Given the description of an element on the screen output the (x, y) to click on. 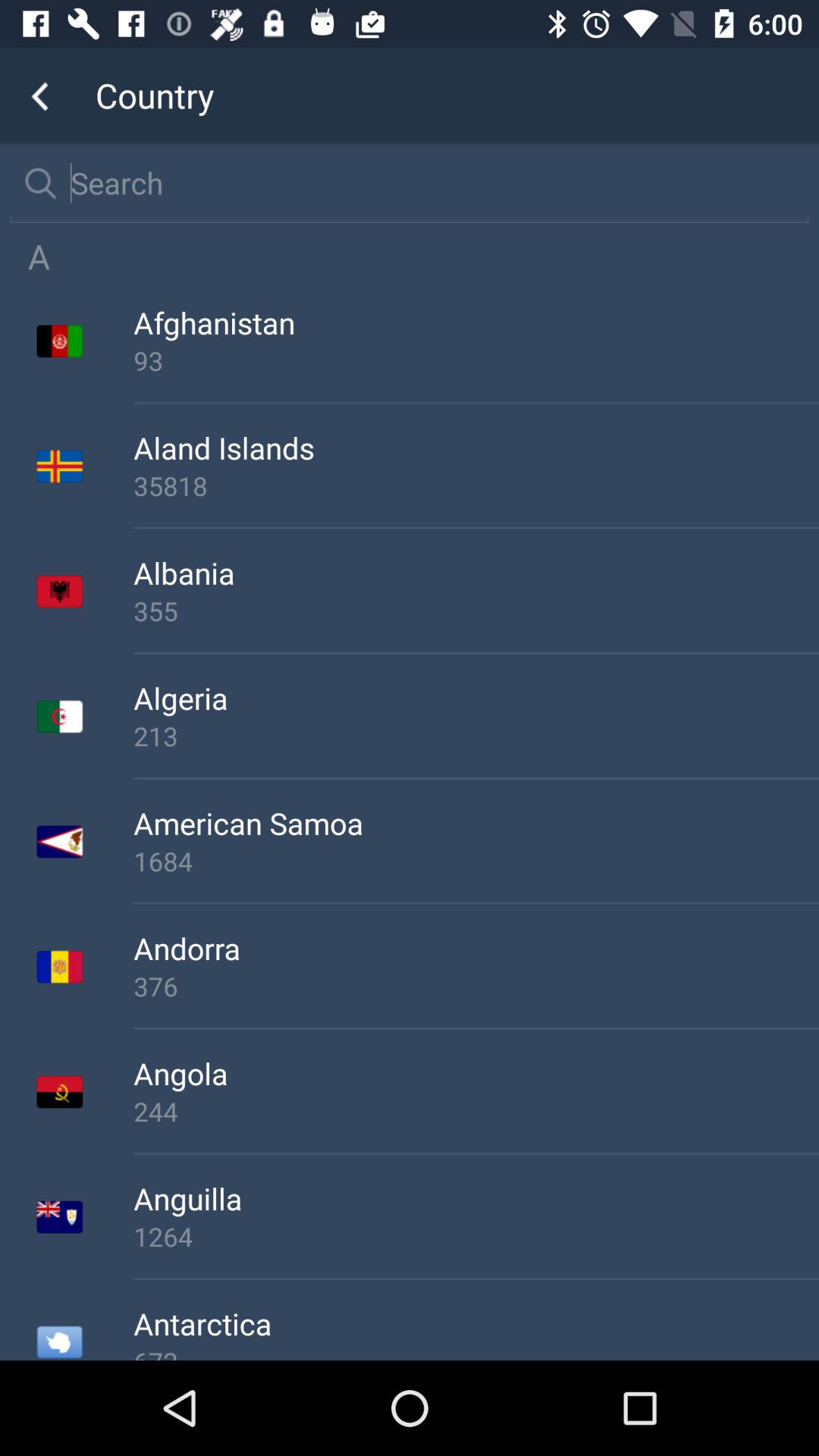
launch 672 app (476, 1351)
